Given the description of an element on the screen output the (x, y) to click on. 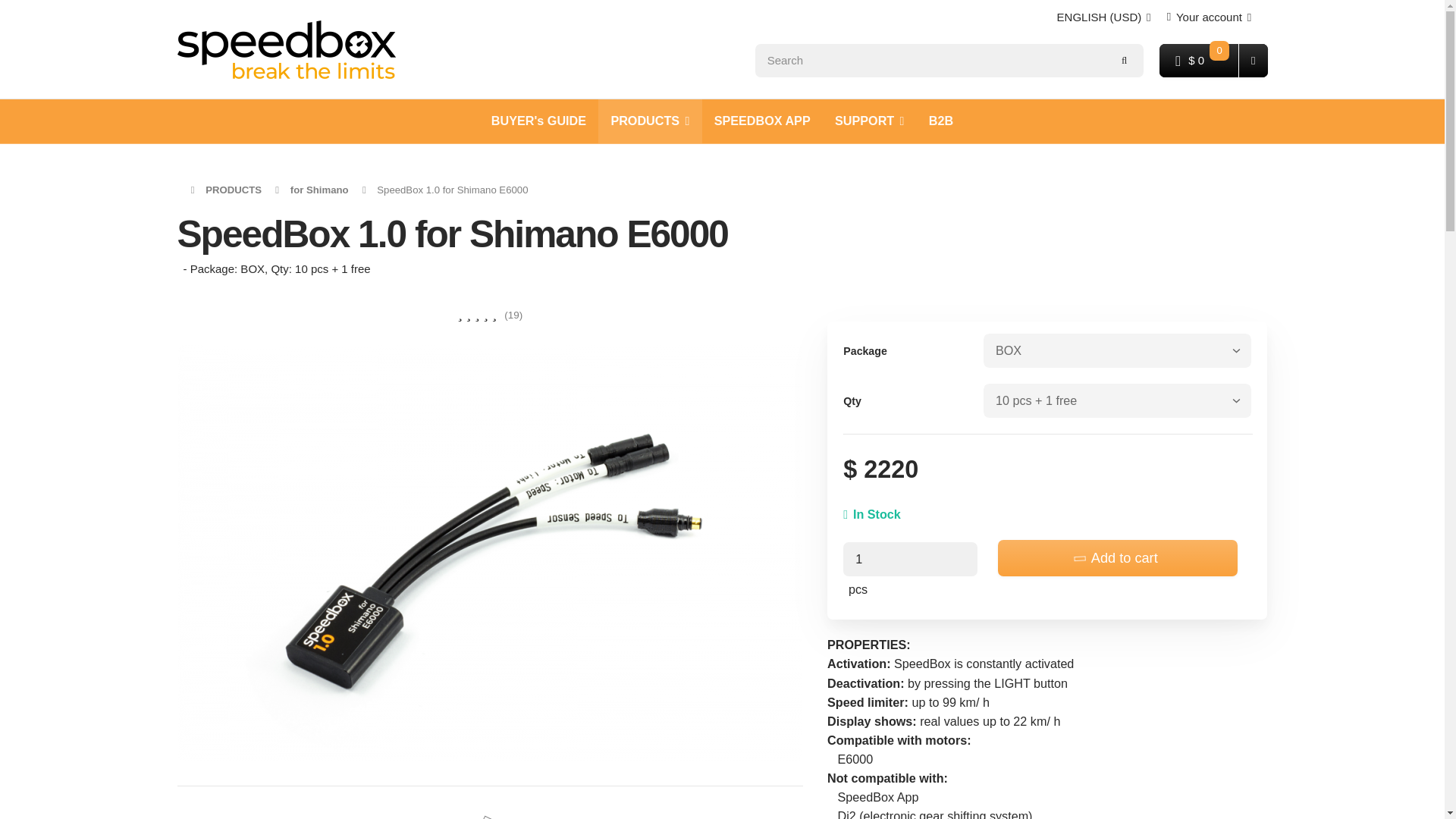
1 (909, 559)
Your account (1208, 17)
Home (286, 49)
